Given the description of an element on the screen output the (x, y) to click on. 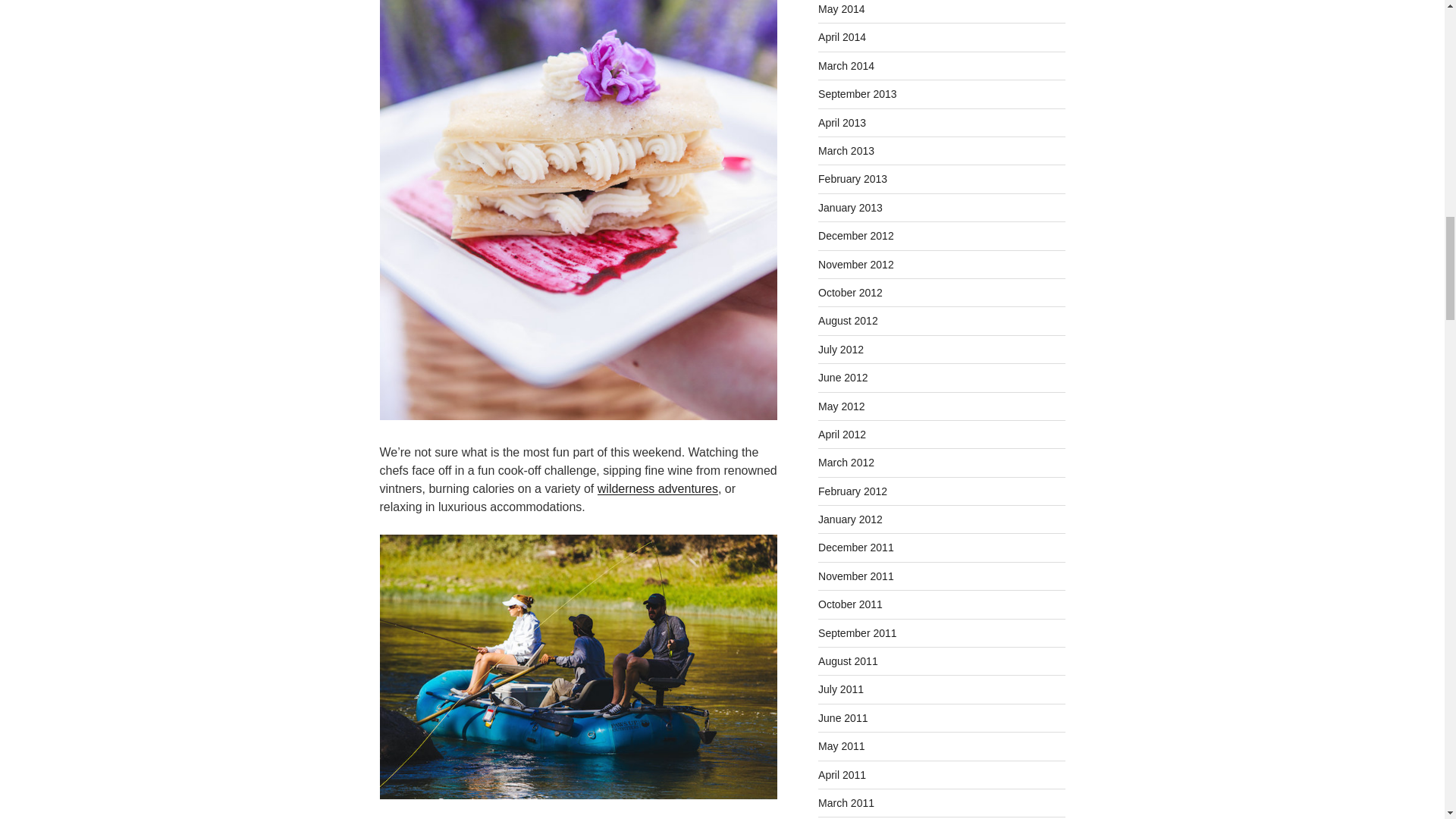
wilderness adventures (656, 488)
